Given the description of an element on the screen output the (x, y) to click on. 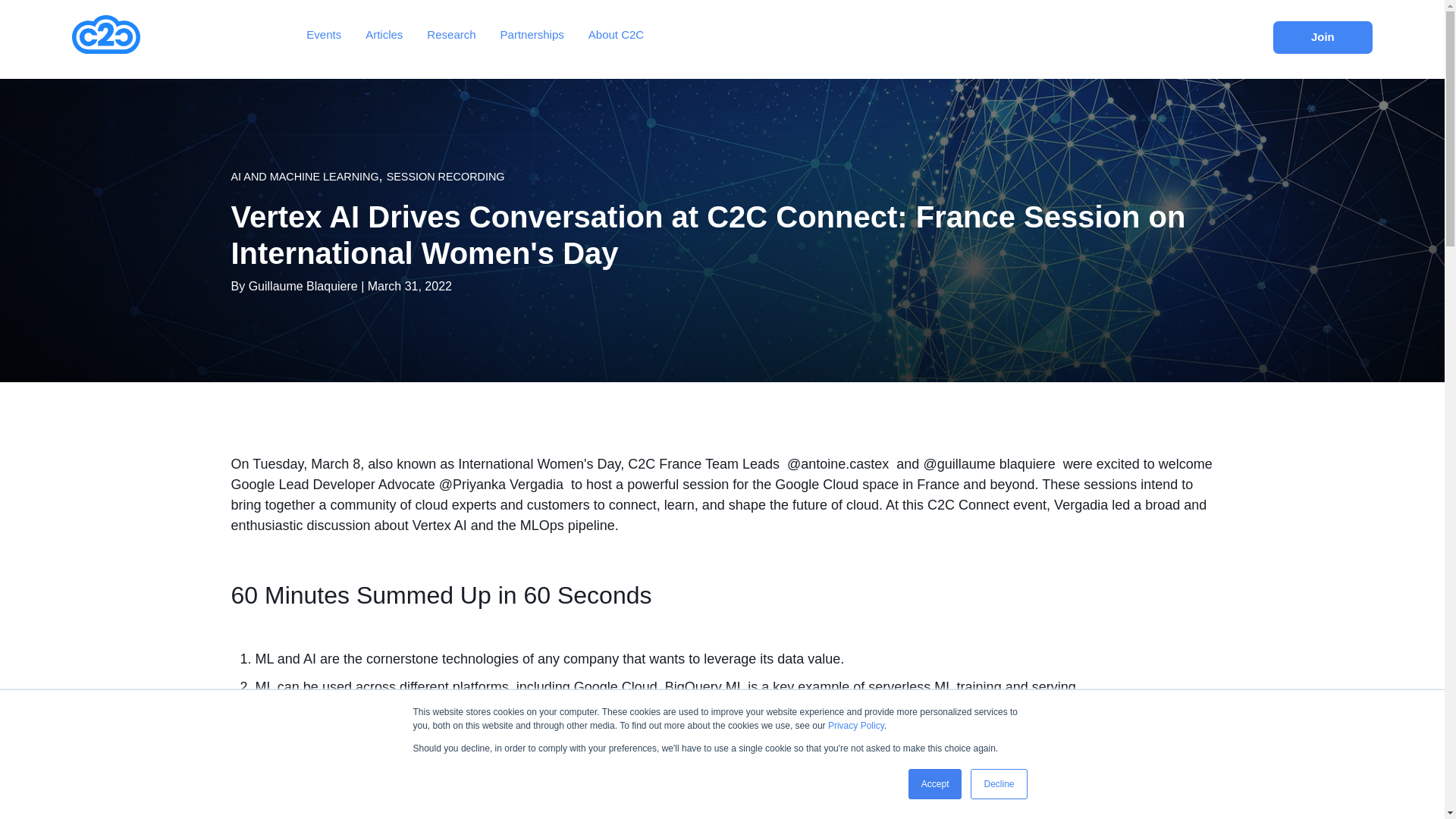
Guillaume Blaquiere (303, 285)
c2c logo blue (105, 34)
Decline (998, 784)
Events (322, 33)
Partnerships (532, 33)
SESSION RECORDING (446, 175)
Articles (384, 33)
Accept (935, 784)
About C2C (615, 33)
AI AND MACHINE LEARNING (304, 175)
